Given the description of an element on the screen output the (x, y) to click on. 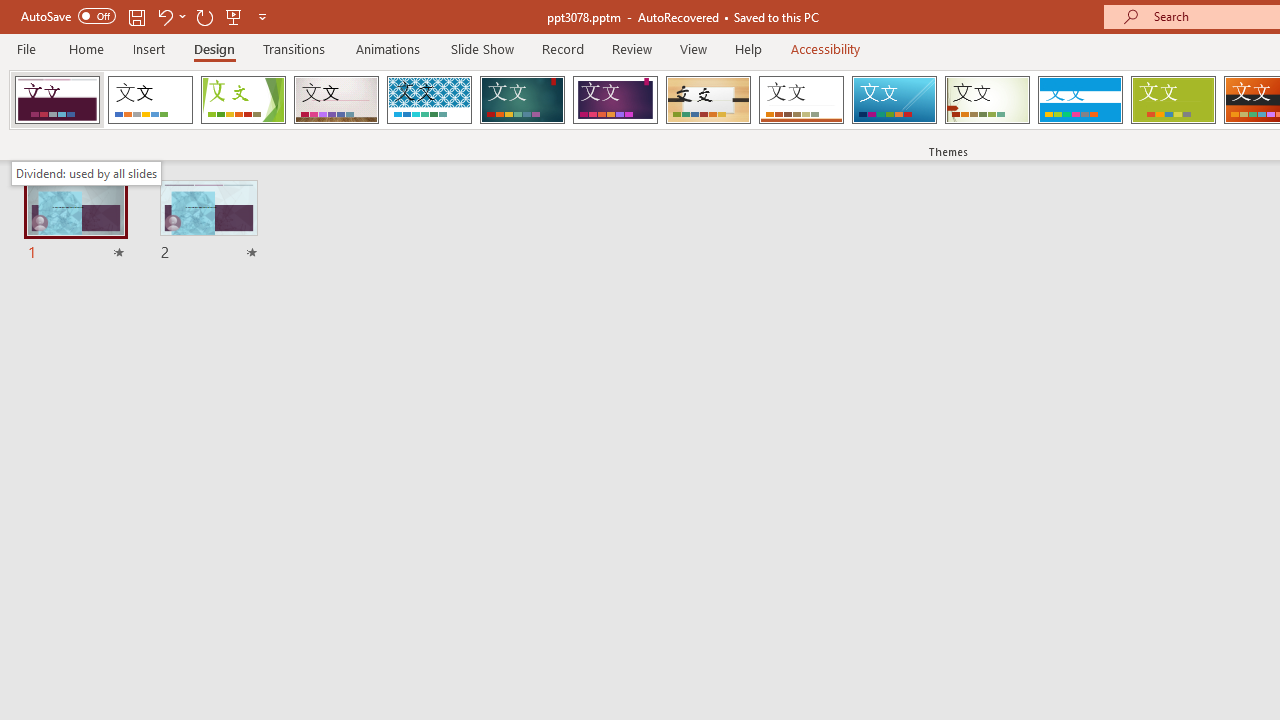
Facet (243, 100)
Banded (1080, 100)
Retrospect (801, 100)
Basis (1172, 100)
Droplet (57, 100)
Office Theme (150, 100)
